Given the description of an element on the screen output the (x, y) to click on. 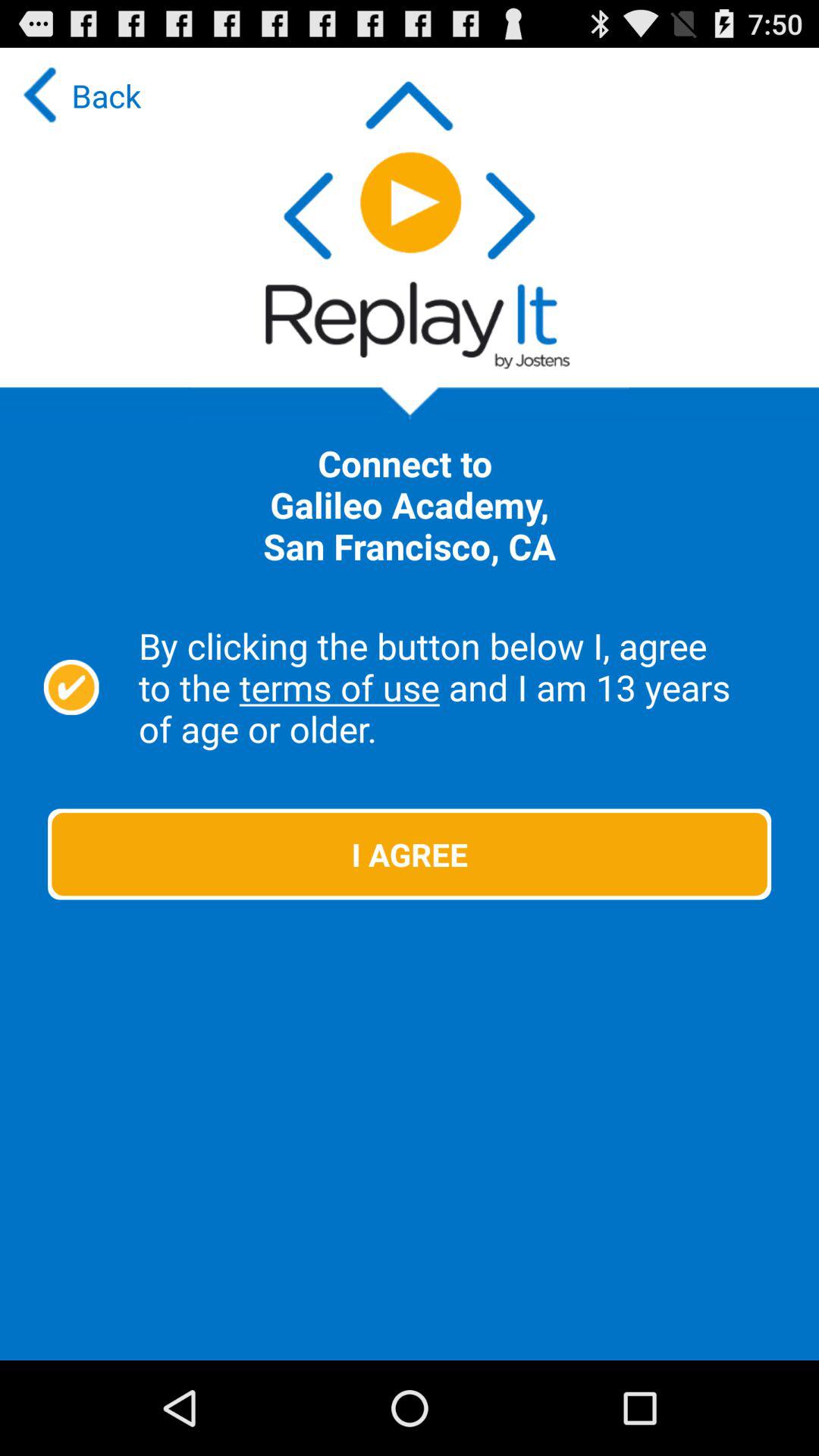
flip until the back item (78, 95)
